Given the description of an element on the screen output the (x, y) to click on. 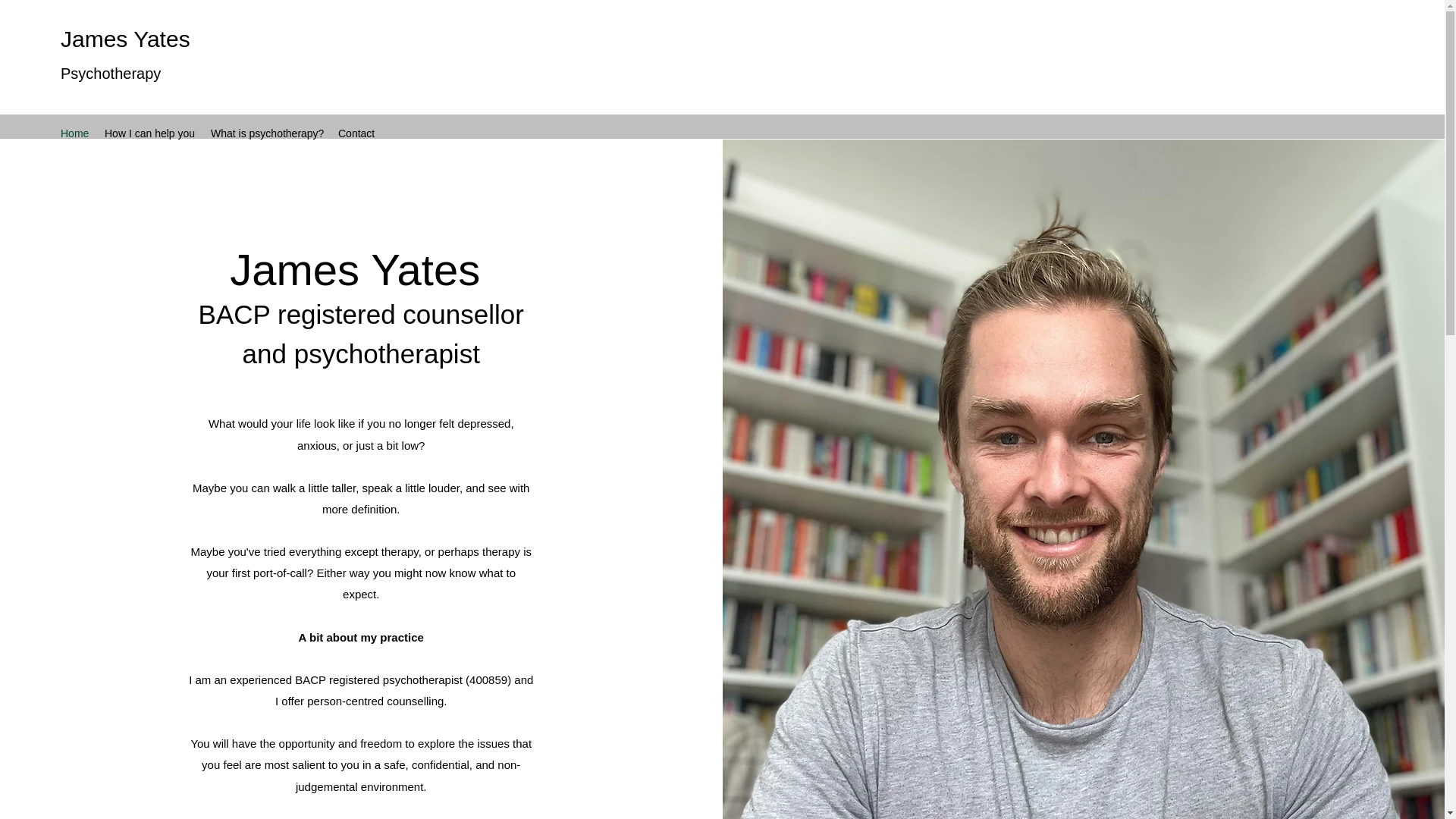
Home (74, 133)
What is psychotherapy? (266, 133)
Contact (357, 133)
How I can help you (150, 133)
